Given the description of an element on the screen output the (x, y) to click on. 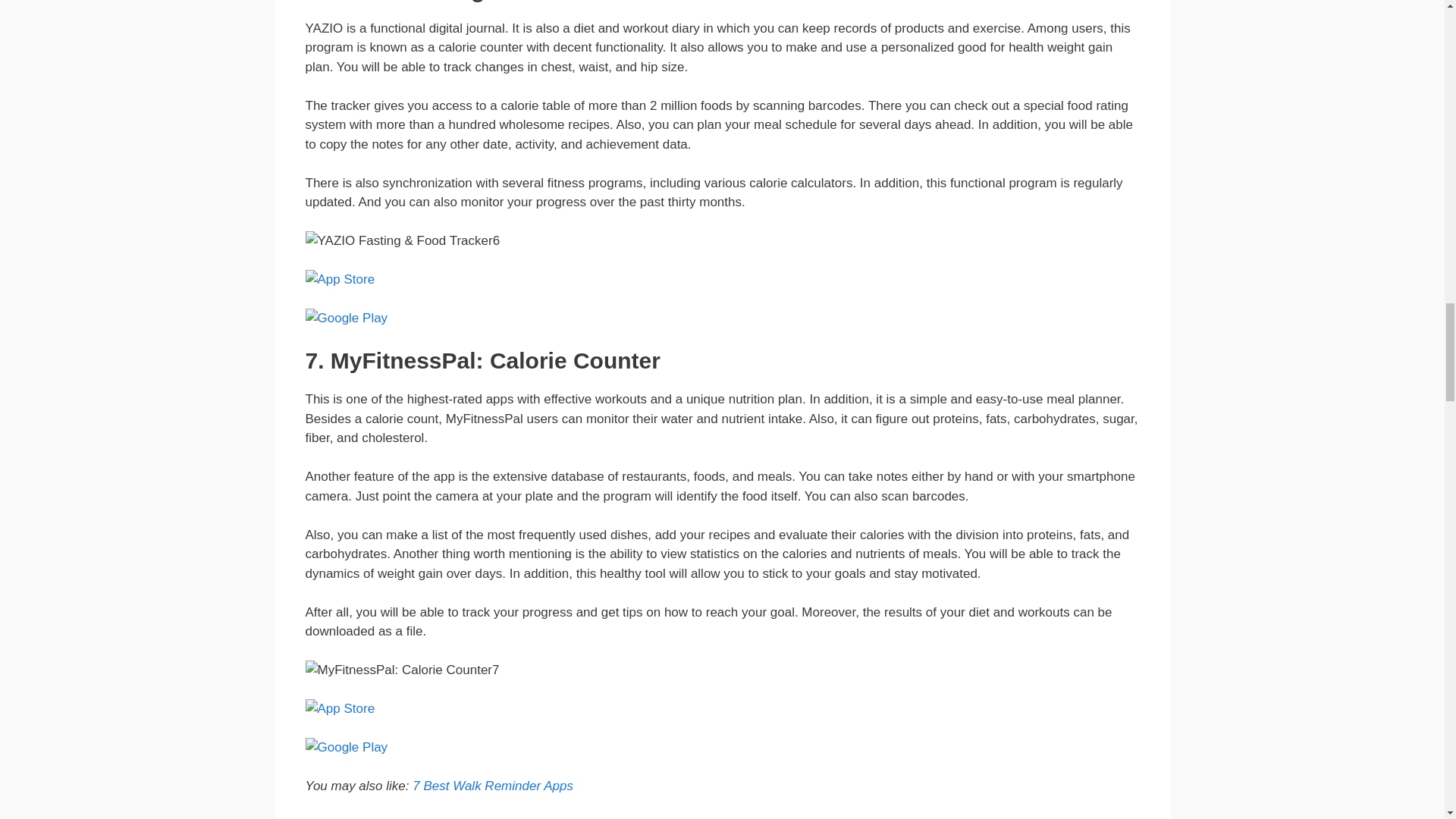
7 Best Walk Reminder Apps (492, 785)
